Given the description of an element on the screen output the (x, y) to click on. 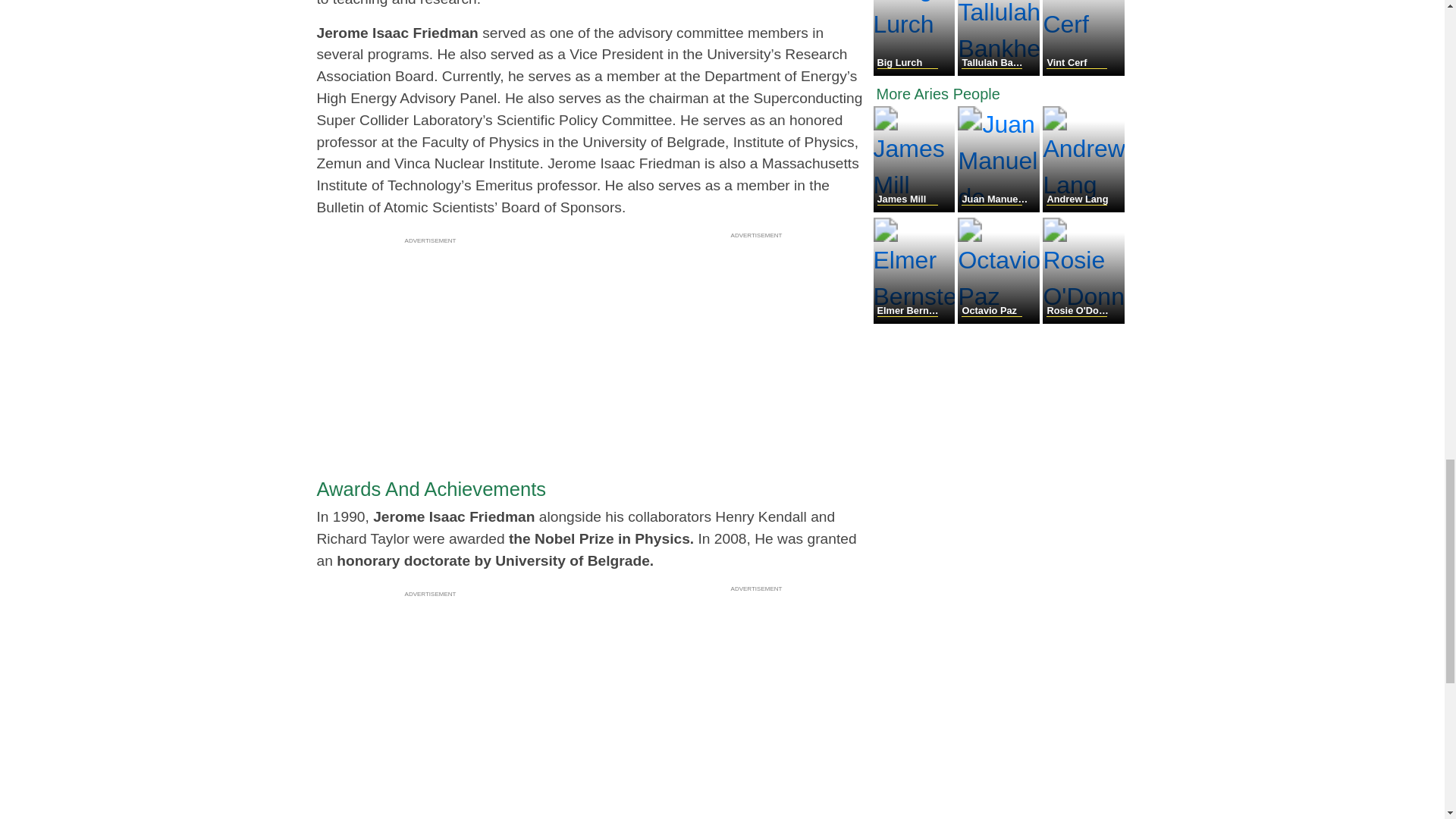
Tallulah Bankhead (1000, 71)
Juan Manuel de Rosas (1000, 207)
Octavio Paz (1000, 318)
James Mill (915, 207)
Elmer Bernstein (915, 318)
Vint Cerf (1083, 71)
Big Lurch (915, 71)
Andrew Lang (1083, 207)
